Given the description of an element on the screen output the (x, y) to click on. 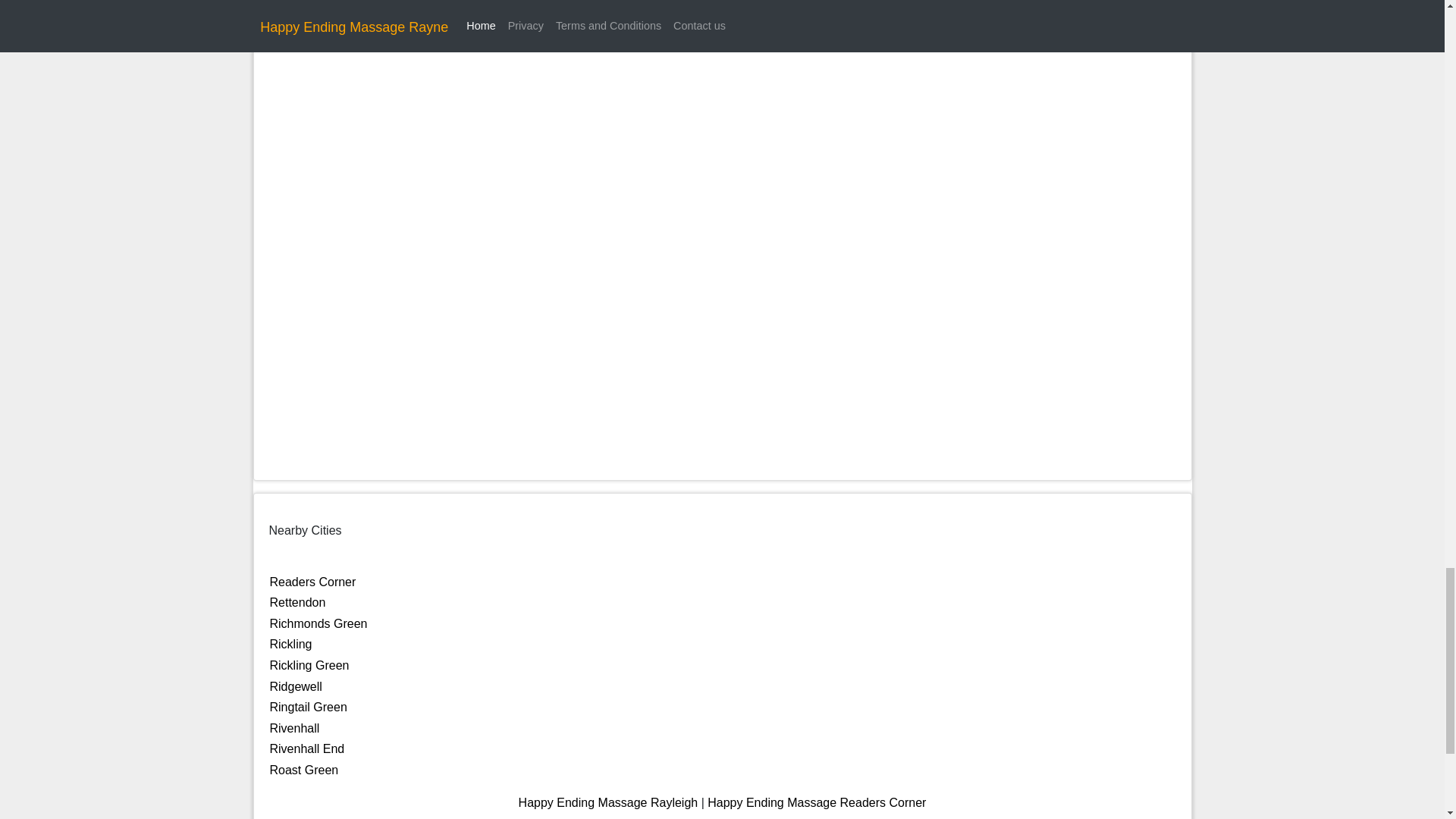
Readers Corner (312, 581)
Rivenhall (294, 727)
Ringtail Green (308, 707)
Ridgewell (295, 686)
Happy Ending Massage Rayleigh (608, 802)
Happy Ending Massage Readers Corner (816, 802)
Rivenhall End (307, 748)
Rickling Green (309, 665)
Roast Green (304, 769)
Rettendon (297, 602)
